Given the description of an element on the screen output the (x, y) to click on. 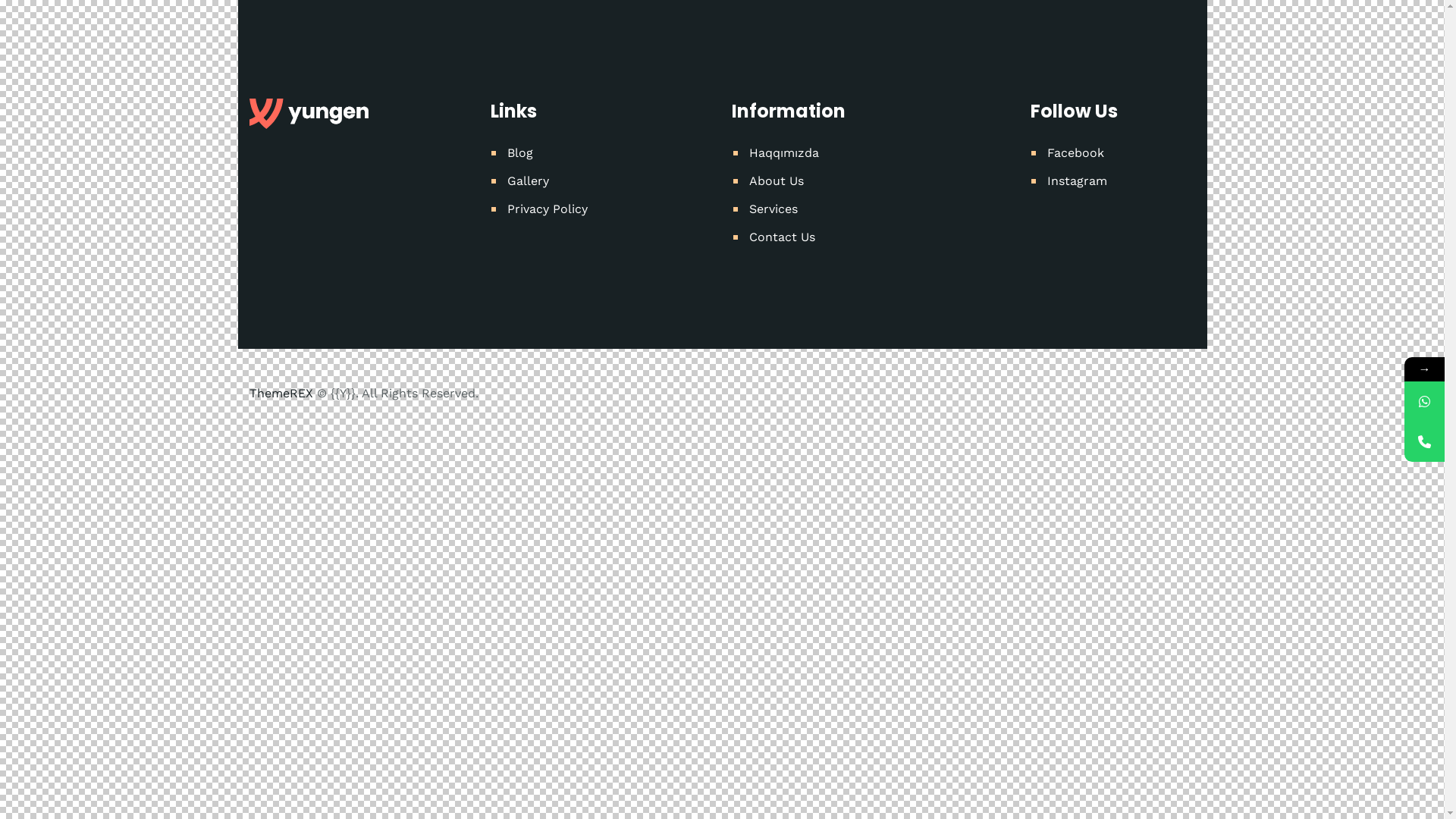
About Us Element type: text (776, 180)
Phone Element type: hover (1424, 441)
Gallery Element type: text (528, 180)
Privacy Policy Element type: text (547, 208)
ThemeREX Element type: text (280, 392)
Contact Us Element type: text (782, 236)
Facebook Element type: text (1075, 152)
Instagram Element type: text (1077, 180)
Services Element type: text (773, 208)
Blog Element type: text (520, 152)
WhatsApp Element type: hover (1424, 401)
